Given the description of an element on the screen output the (x, y) to click on. 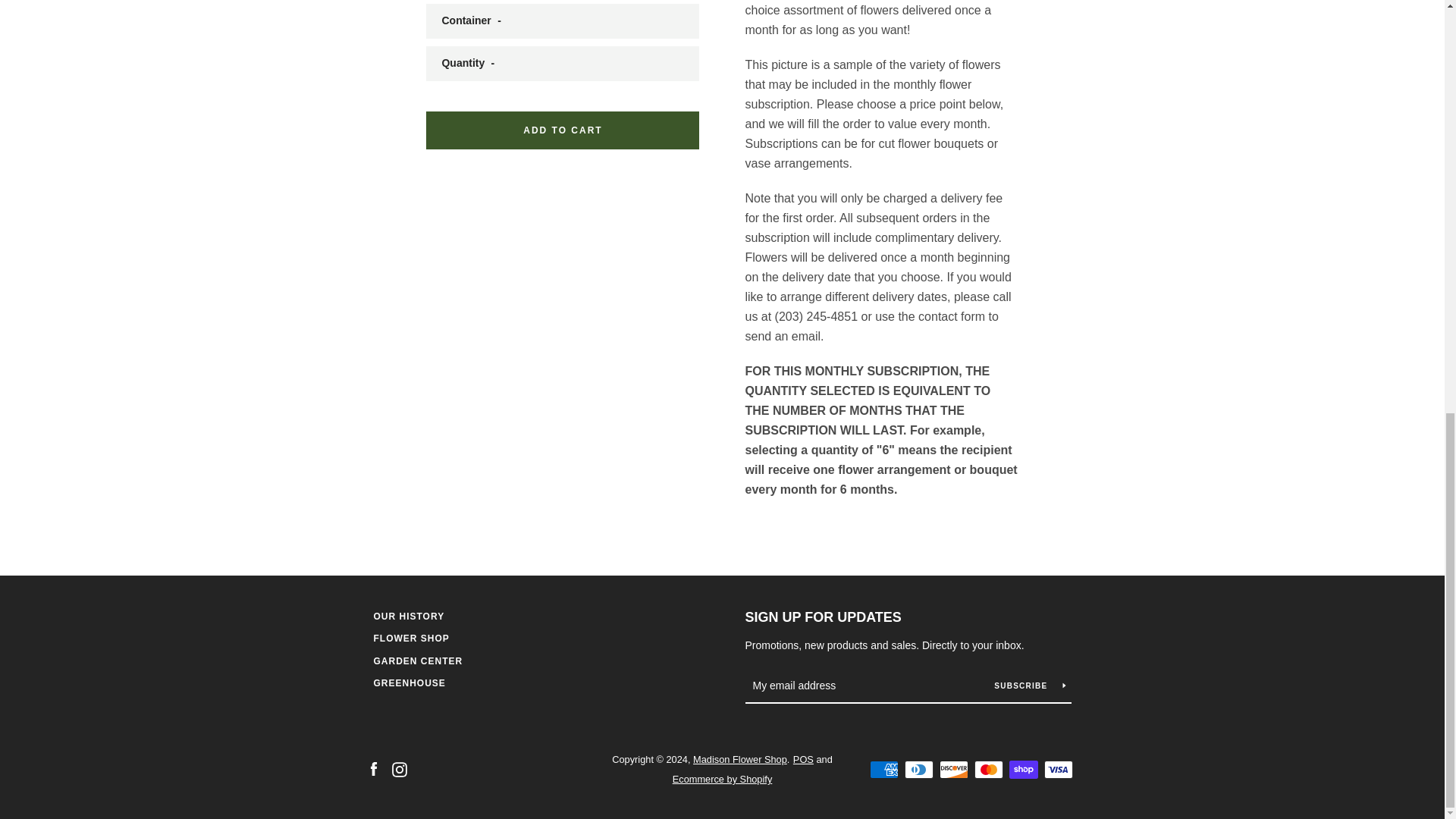
Visa (1057, 769)
Madison Flower Shop on Instagram (399, 768)
Shop Pay (1022, 769)
Diners Club (918, 769)
American Express (883, 769)
Mastercard (988, 769)
Discover (953, 769)
Madison Flower Shop on Facebook (372, 768)
